Given the description of an element on the screen output the (x, y) to click on. 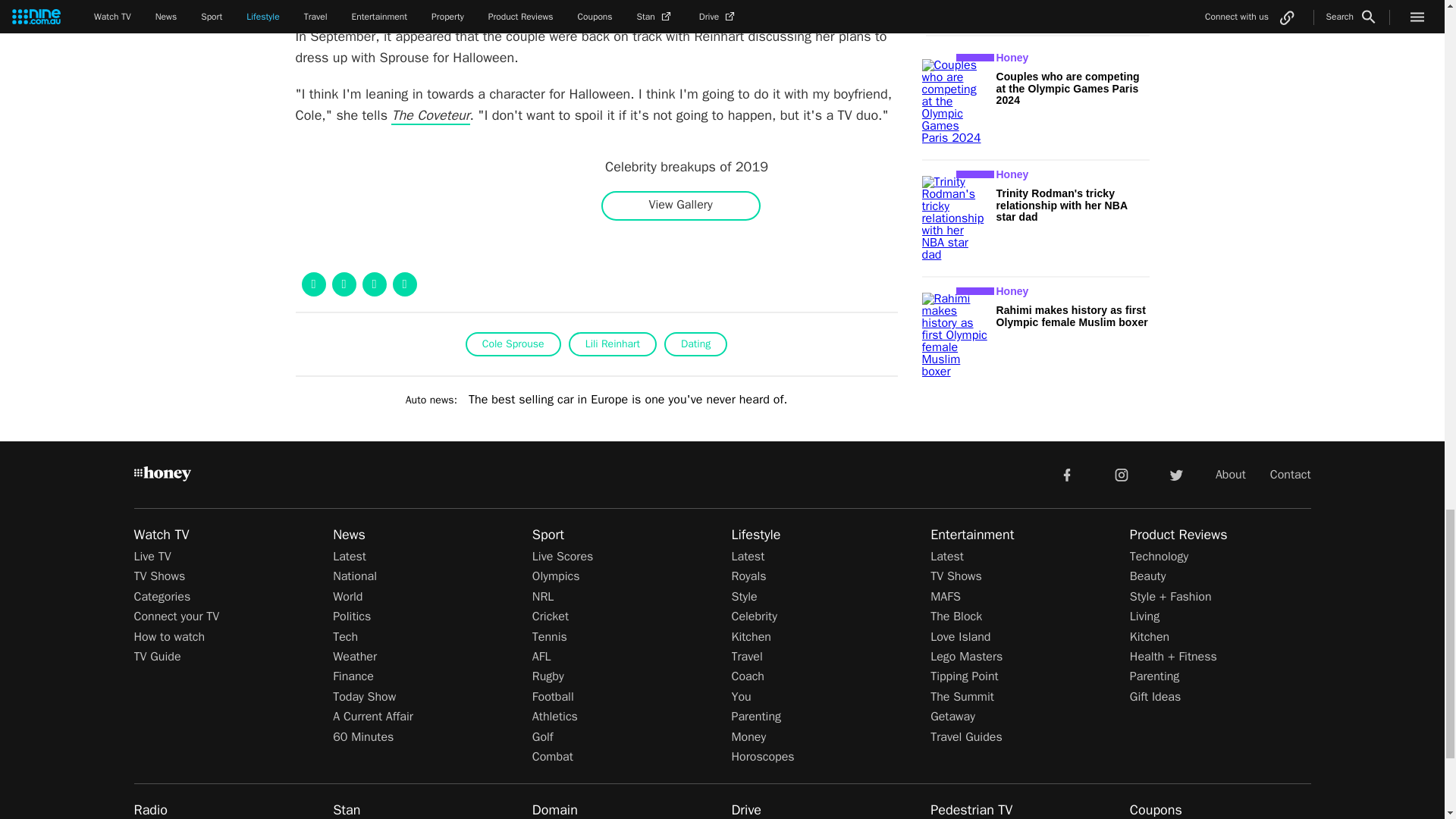
instagram (1121, 473)
facebook (1066, 473)
twitter (1175, 473)
